Given the description of an element on the screen output the (x, y) to click on. 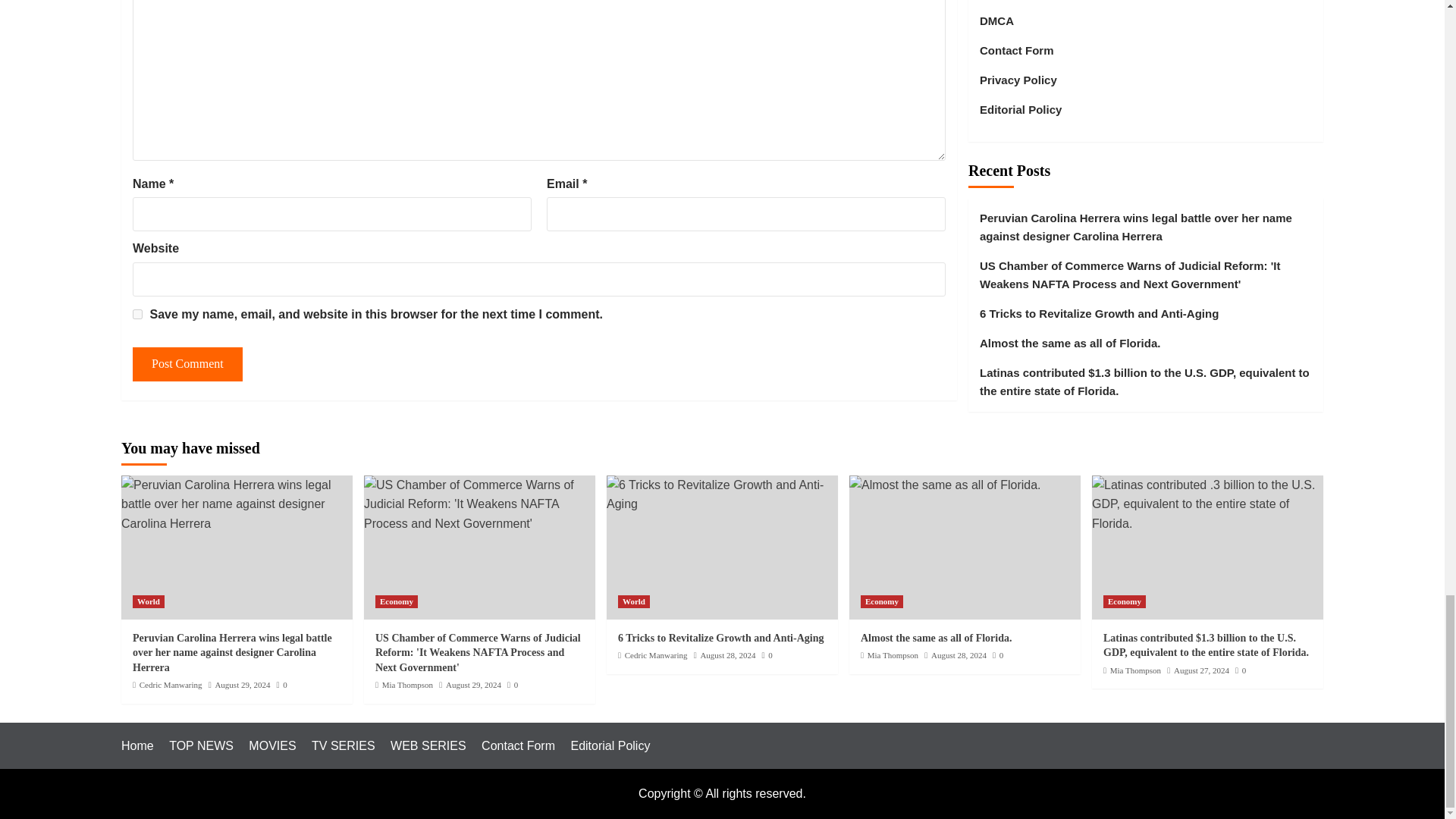
Post Comment (187, 364)
Almost the same as all of Florida. (944, 485)
yes (137, 314)
6 Tricks to Revitalize Growth and Anti-Aging (722, 494)
